Given the description of an element on the screen output the (x, y) to click on. 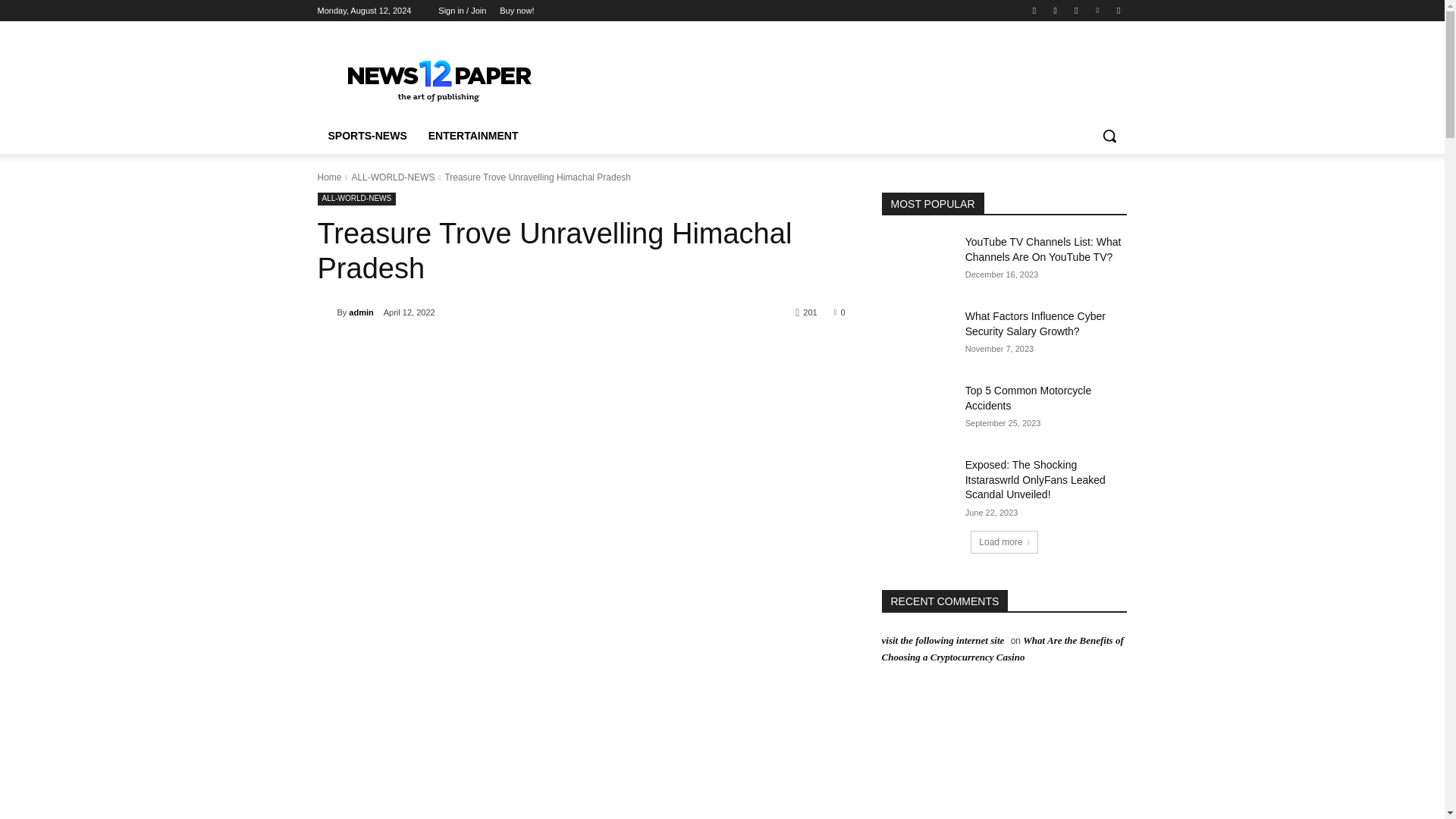
SPORTS-NEWS (366, 135)
Home (328, 176)
Vimeo (1097, 9)
Twitter (1075, 9)
Youtube (1117, 9)
Instagram (1055, 9)
ALL-WORLD-NEWS (391, 176)
admin (360, 312)
ALL-WORLD-NEWS (356, 198)
ENTERTAINMENT (473, 135)
